Given the description of an element on the screen output the (x, y) to click on. 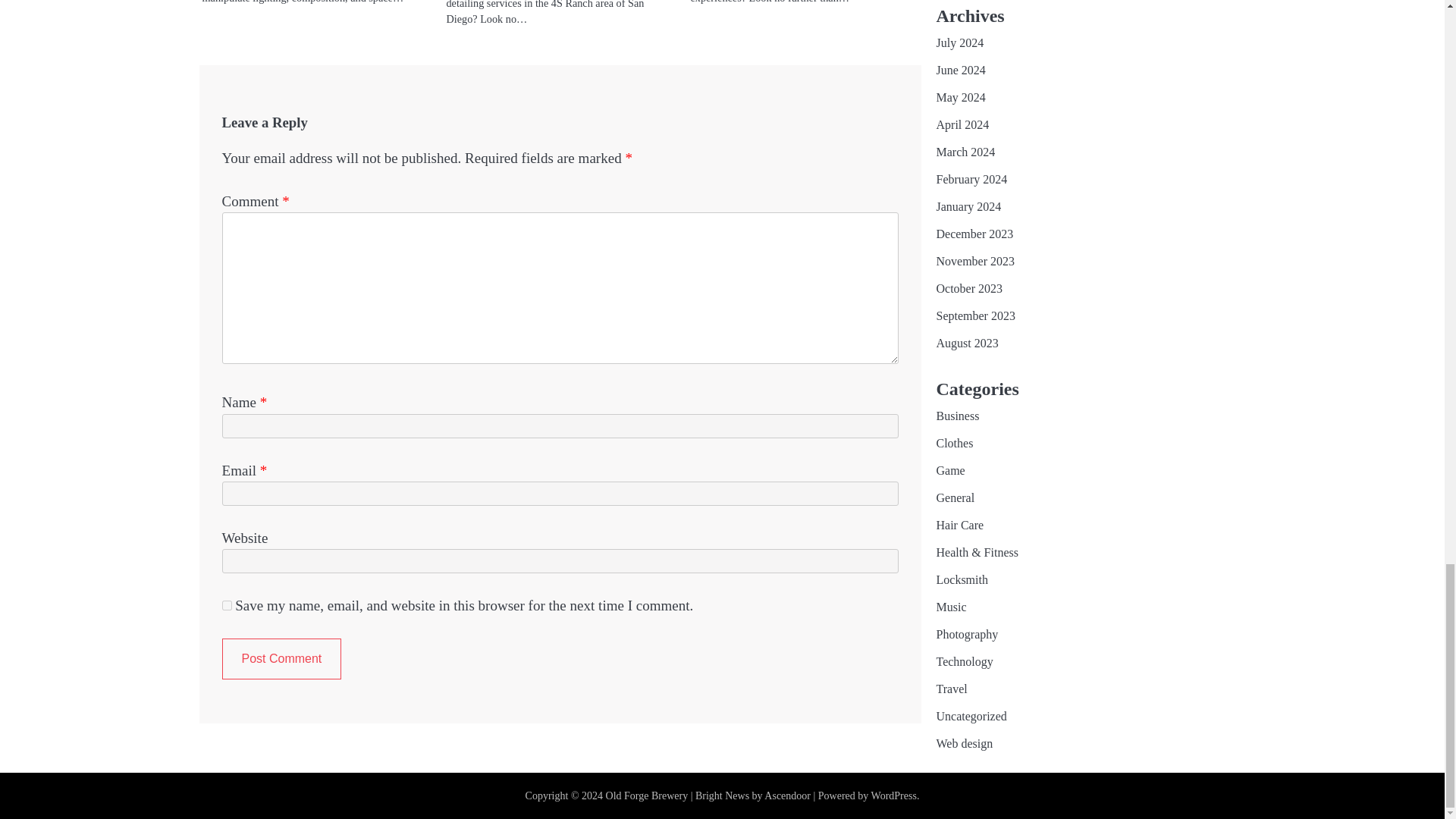
Post Comment (280, 658)
Post Comment (280, 658)
yes (226, 605)
